Given the description of an element on the screen output the (x, y) to click on. 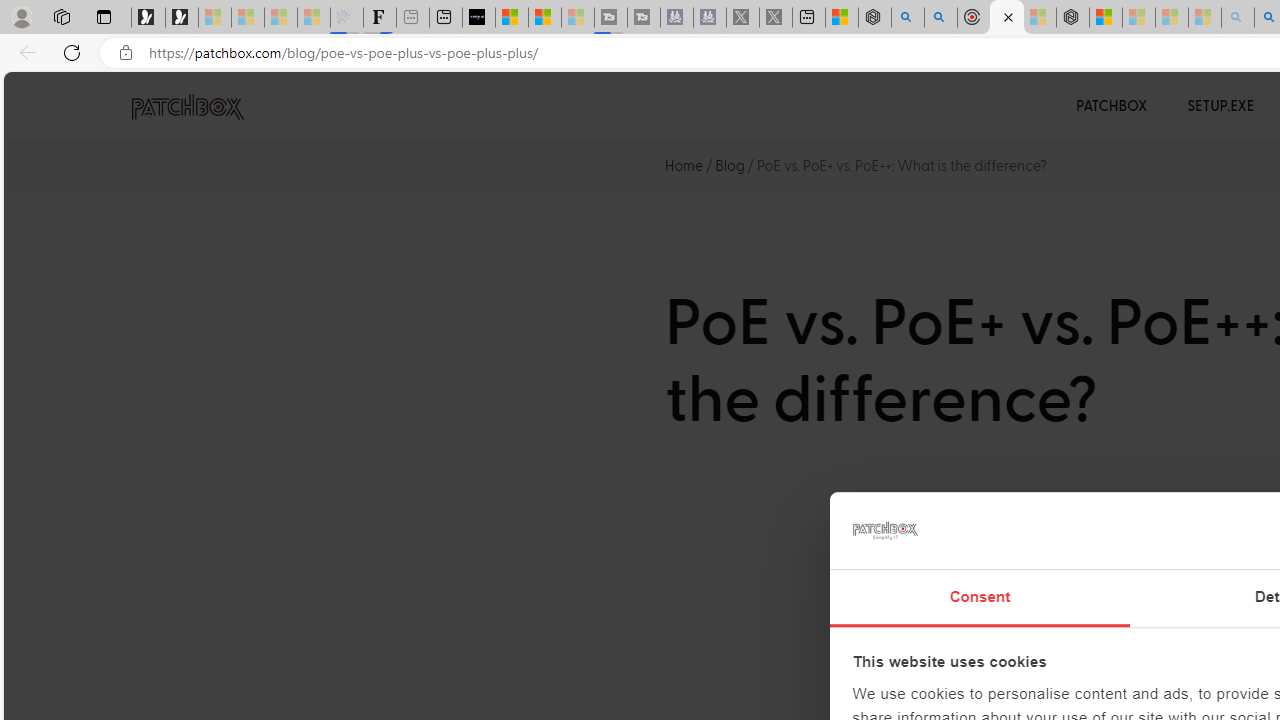
logo (884, 530)
Blog (729, 165)
